Given the description of an element on the screen output the (x, y) to click on. 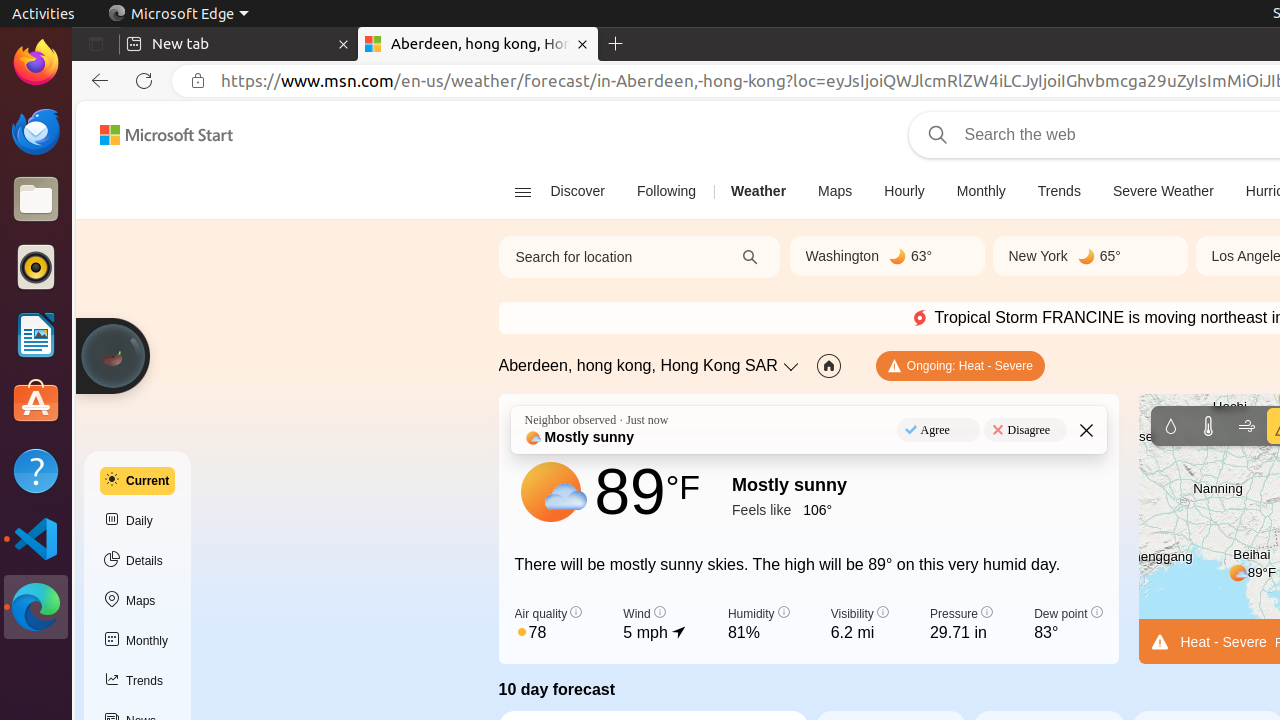
Files Element type: push-button (36, 199)
Details Element type: push-button (138, 561)
Rhythmbox Element type: push-button (36, 267)
Back Element type: push-button (96, 81)
Thunderbird Mail Element type: push-button (36, 131)
